Given the description of an element on the screen output the (x, y) to click on. 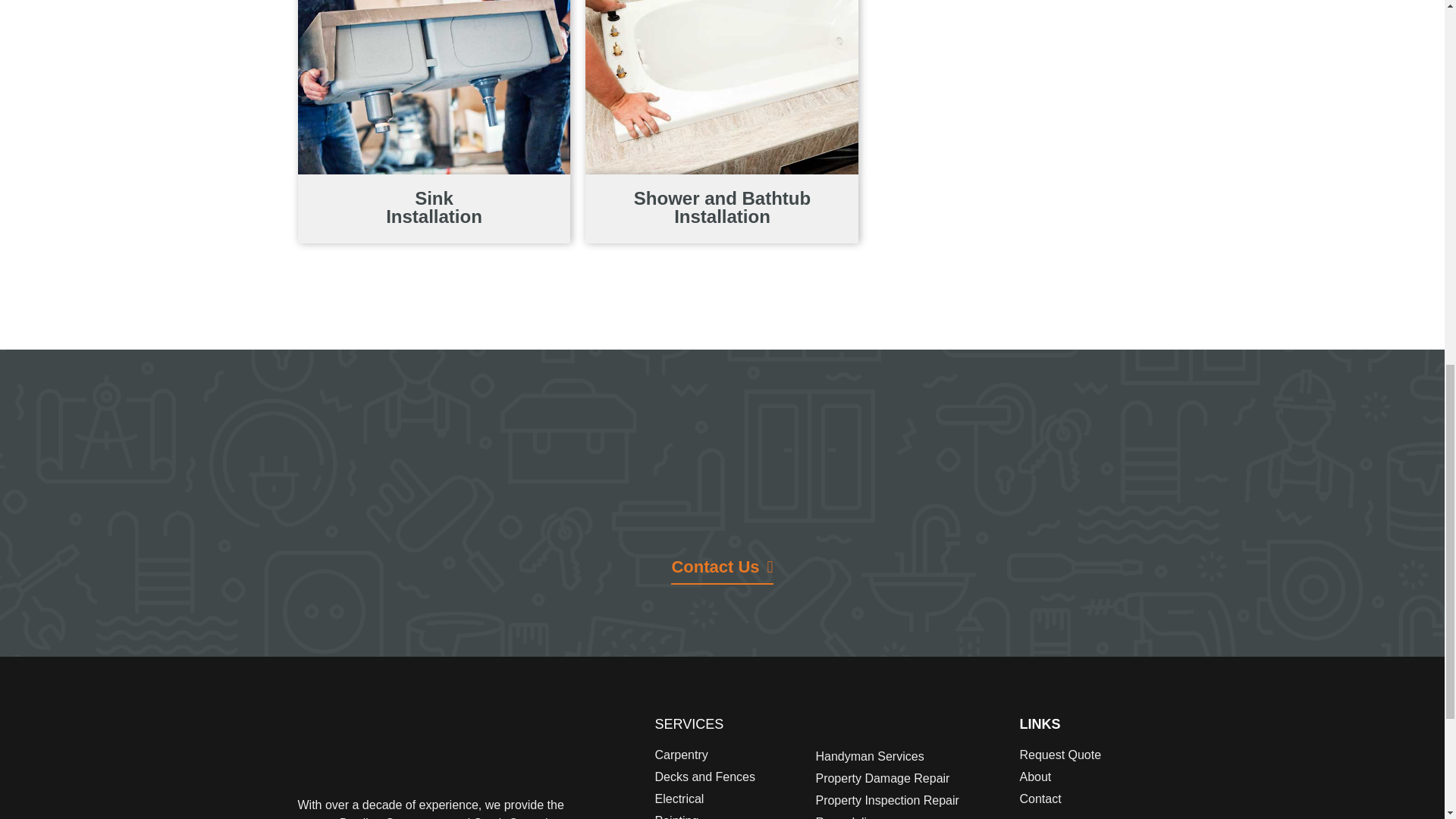
Property Inspection Repair (909, 800)
Contact Us (722, 571)
Painting (727, 815)
Decks and Fences (727, 777)
Property Damage Repair (909, 778)
Electrical (727, 799)
Remodeling (909, 816)
Contact (1082, 799)
About (1082, 777)
Carpentry (727, 755)
Request Quote (1082, 755)
Handyman Services (909, 756)
